Given the description of an element on the screen output the (x, y) to click on. 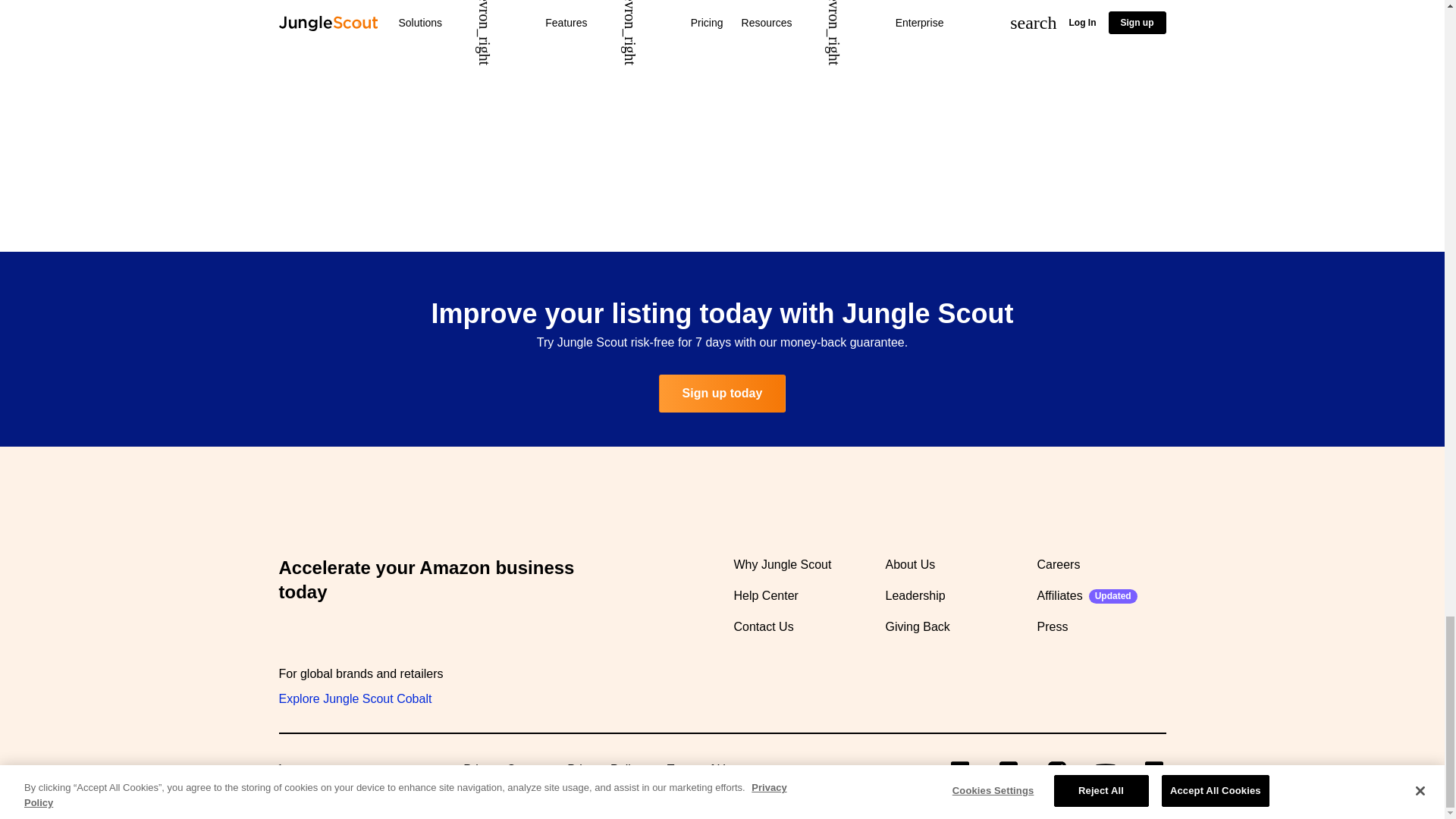
Sign up today (722, 393)
